Given the description of an element on the screen output the (x, y) to click on. 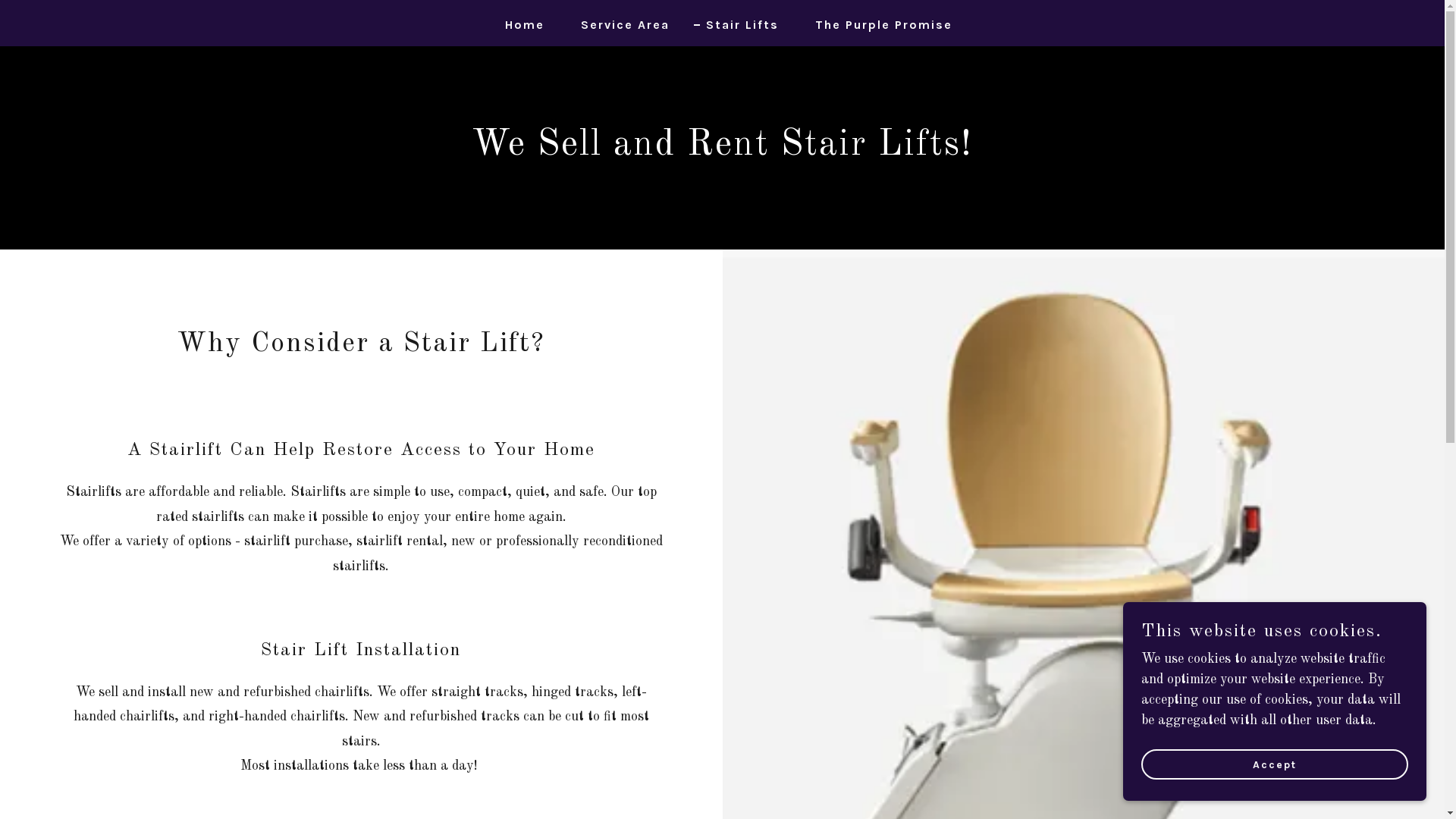
Accept Element type: text (1274, 764)
The Purple Promise Element type: text (876, 24)
Home Element type: text (518, 24)
Service Area Element type: text (619, 24)
Stair Lifts Element type: text (735, 24)
